Given the description of an element on the screen output the (x, y) to click on. 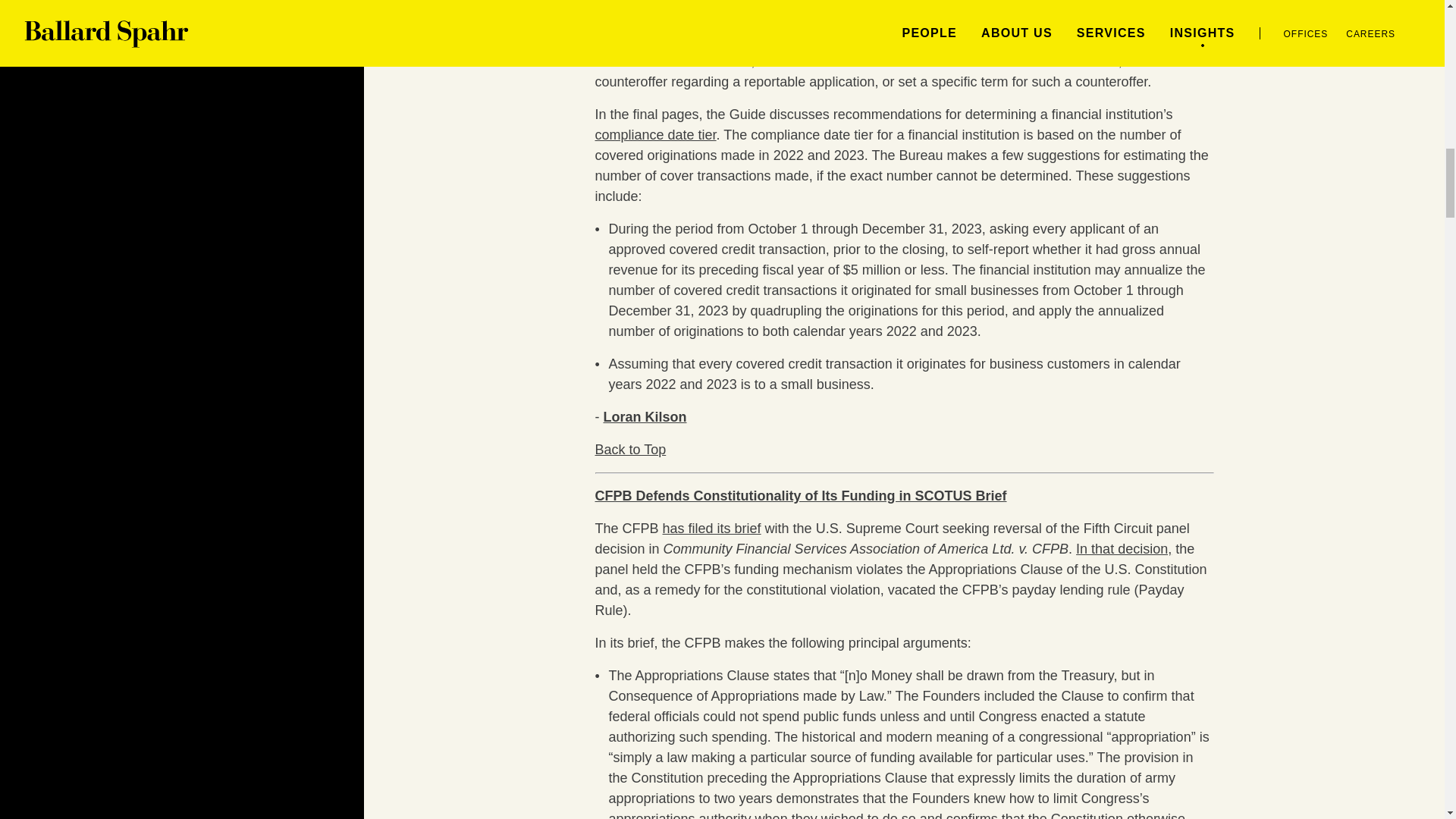
Loran Kilson (645, 417)
compliance date tier (655, 134)
has filed its brief (711, 528)
Back to Top (629, 449)
In that decision, (1123, 548)
